Given the description of an element on the screen output the (x, y) to click on. 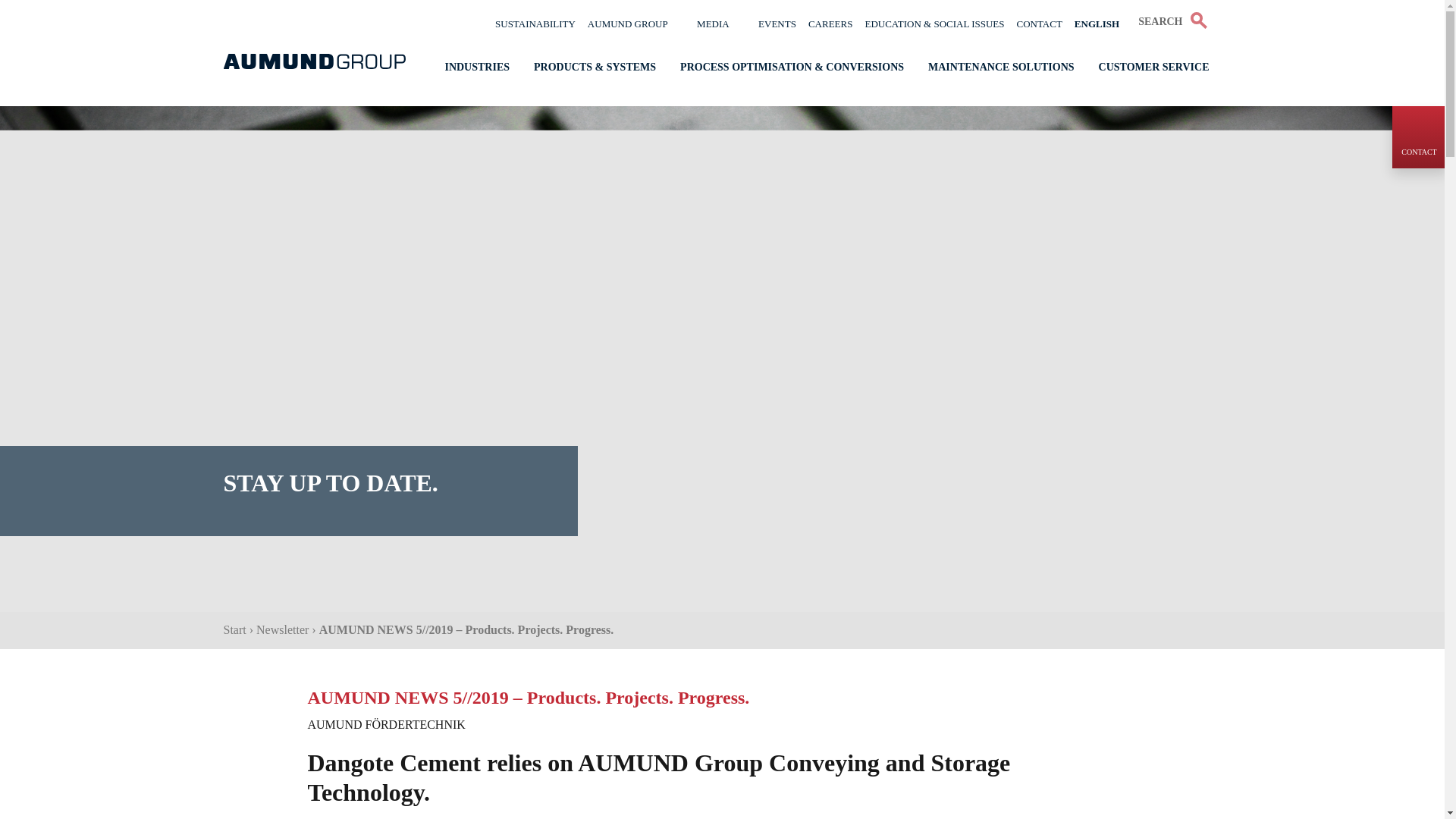
INDUSTRIES (476, 68)
